Given the description of an element on the screen output the (x, y) to click on. 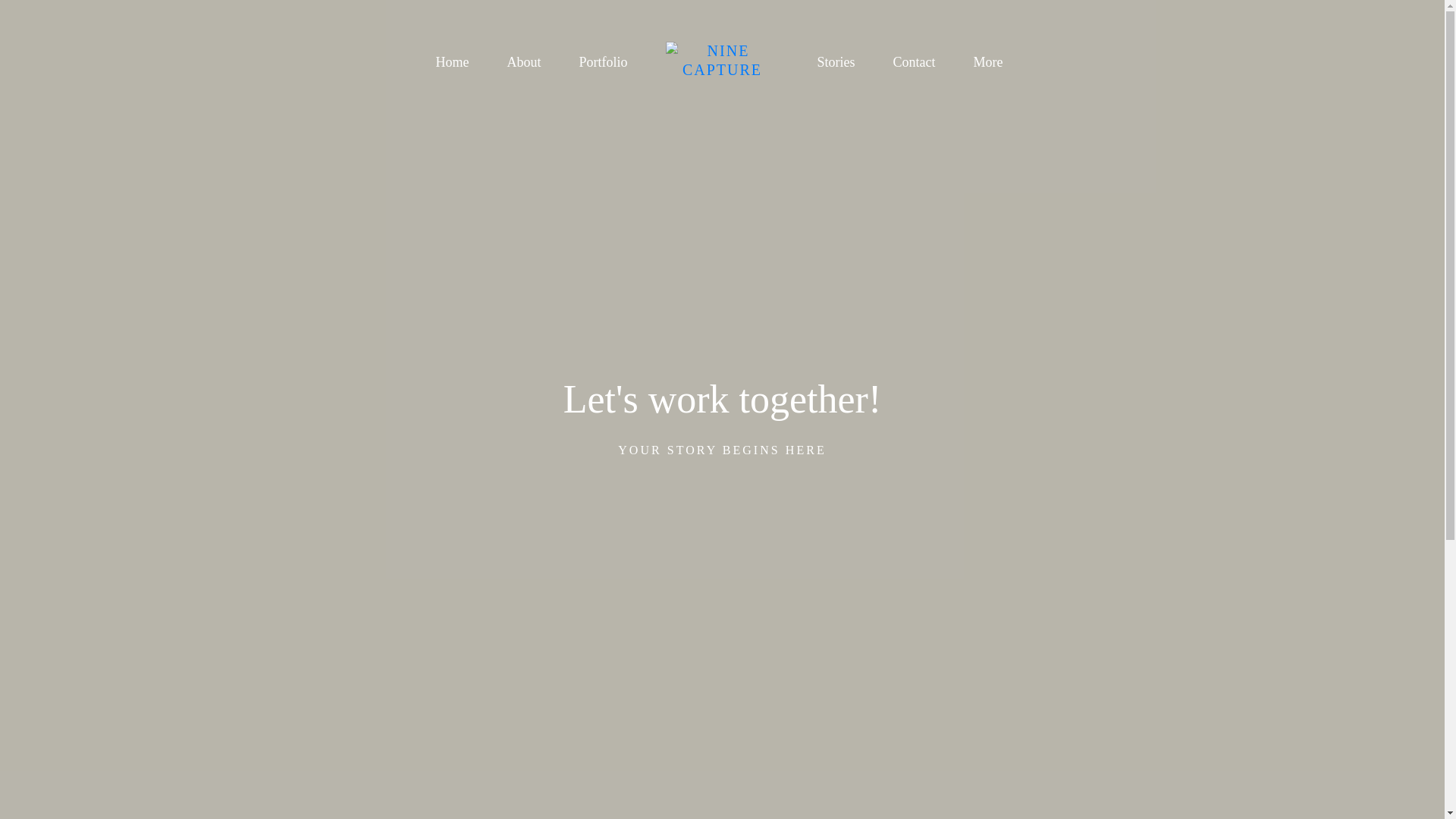
More (992, 61)
Home (451, 61)
Contact (915, 61)
Portfolio (602, 61)
Stories (835, 61)
About (523, 61)
